Given the description of an element on the screen output the (x, y) to click on. 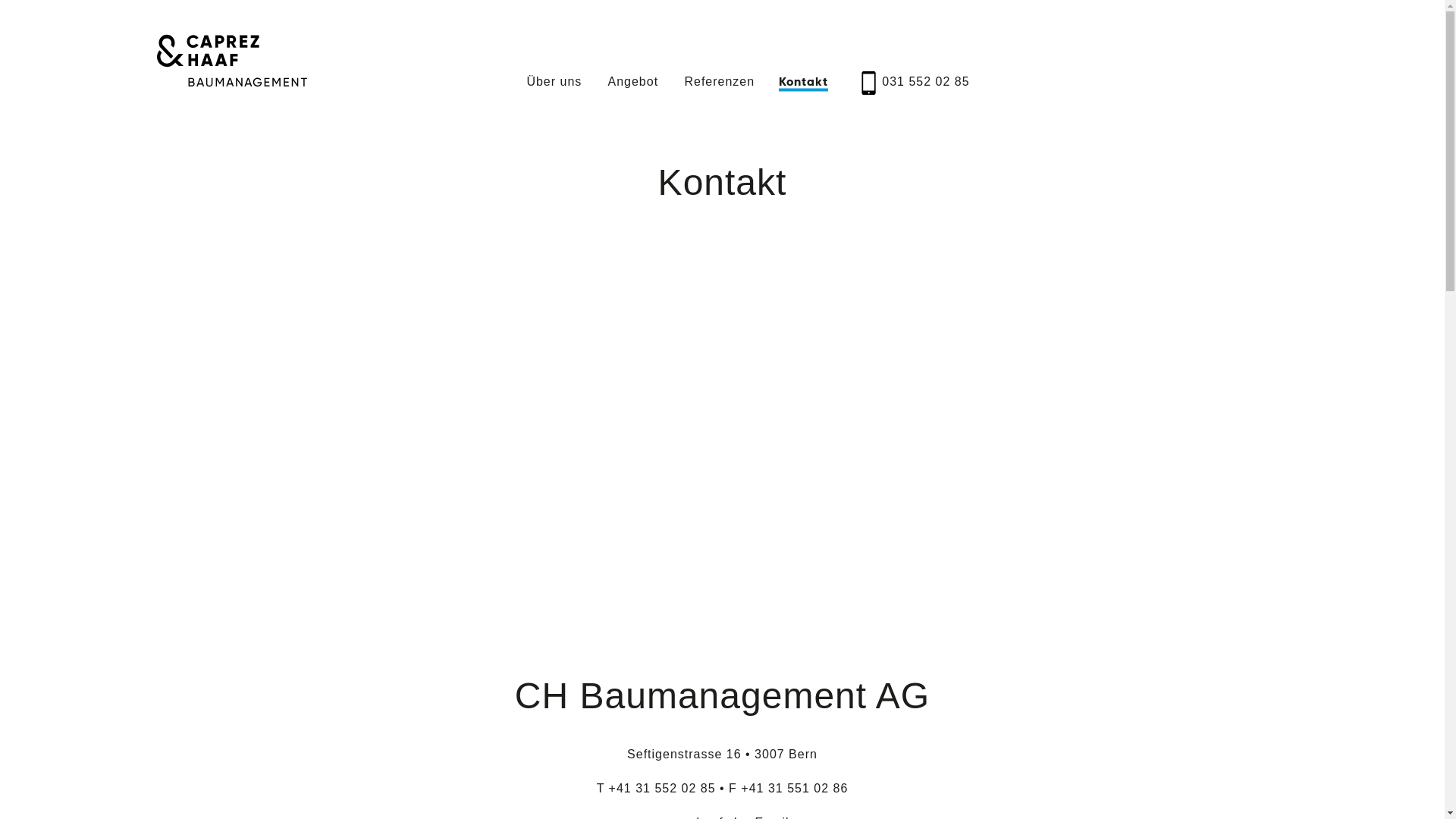
031 552 02 85 Element type: text (925, 80)
Referenzen Element type: text (719, 80)
Kontakt Element type: text (803, 82)
Angebot Element type: text (632, 80)
+41 31 552 02 85 Element type: text (661, 787)
